Given the description of an element on the screen output the (x, y) to click on. 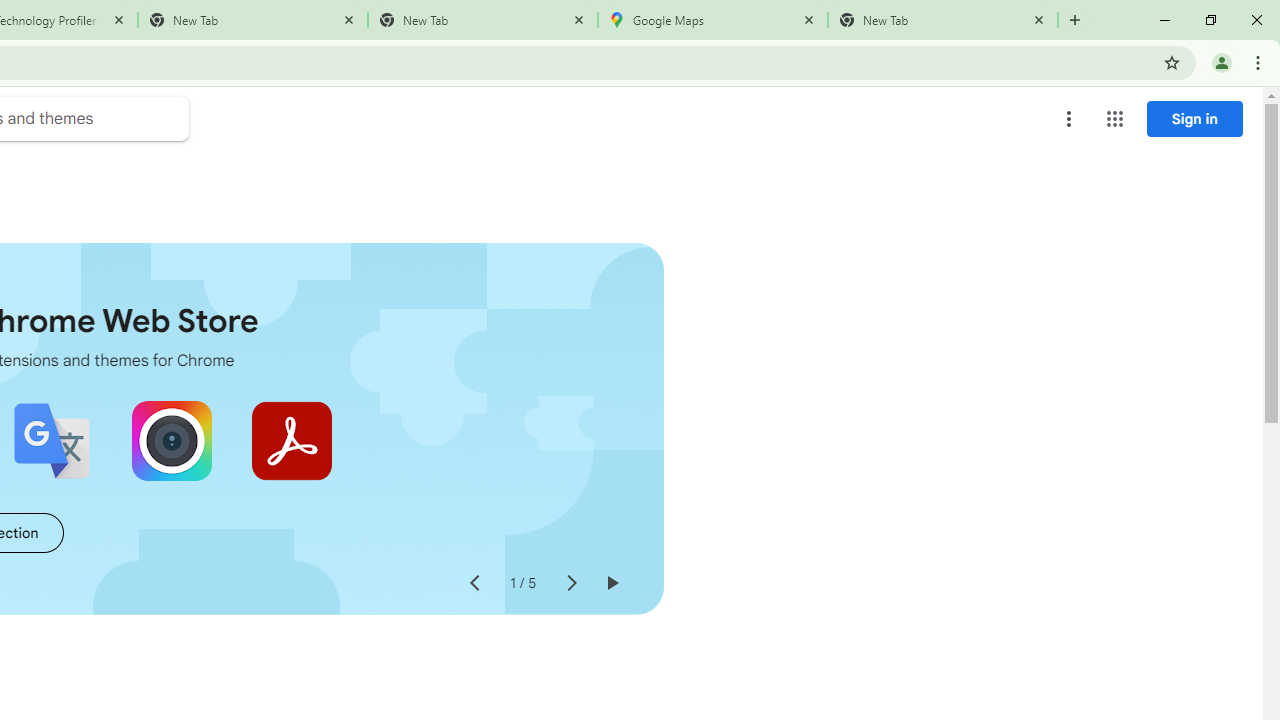
More options menu (1069, 118)
Adobe Acrobat: PDF edit, convert, sign tools (291, 440)
Next slide (570, 583)
Resume auto-play (611, 583)
Awesome Screen Recorder & Screenshot (171, 440)
Google Maps (712, 20)
New Tab (943, 20)
